Given the description of an element on the screen output the (x, y) to click on. 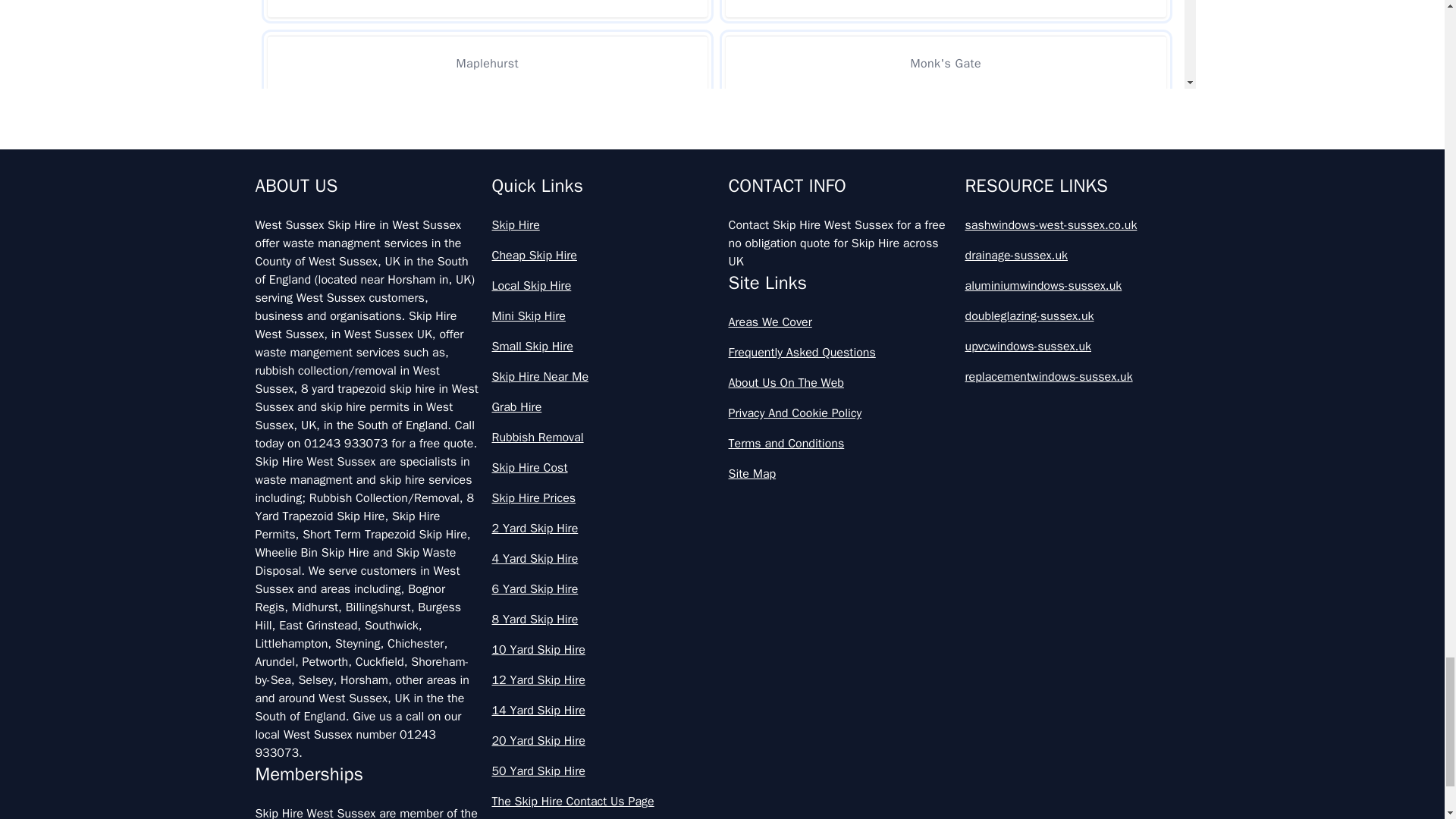
replacementwindows-sussex.uk (1076, 376)
drainage-sussex.uk (1076, 255)
doubleglazing-sussex.uk (1076, 316)
Site Map (840, 474)
New Town (486, 136)
Skip Hire (604, 225)
sashwindows-west-sussex.co.uk (1076, 225)
Monk's Gate (945, 63)
Plummers Plain (486, 210)
Nuthurst (945, 136)
